Given the description of an element on the screen output the (x, y) to click on. 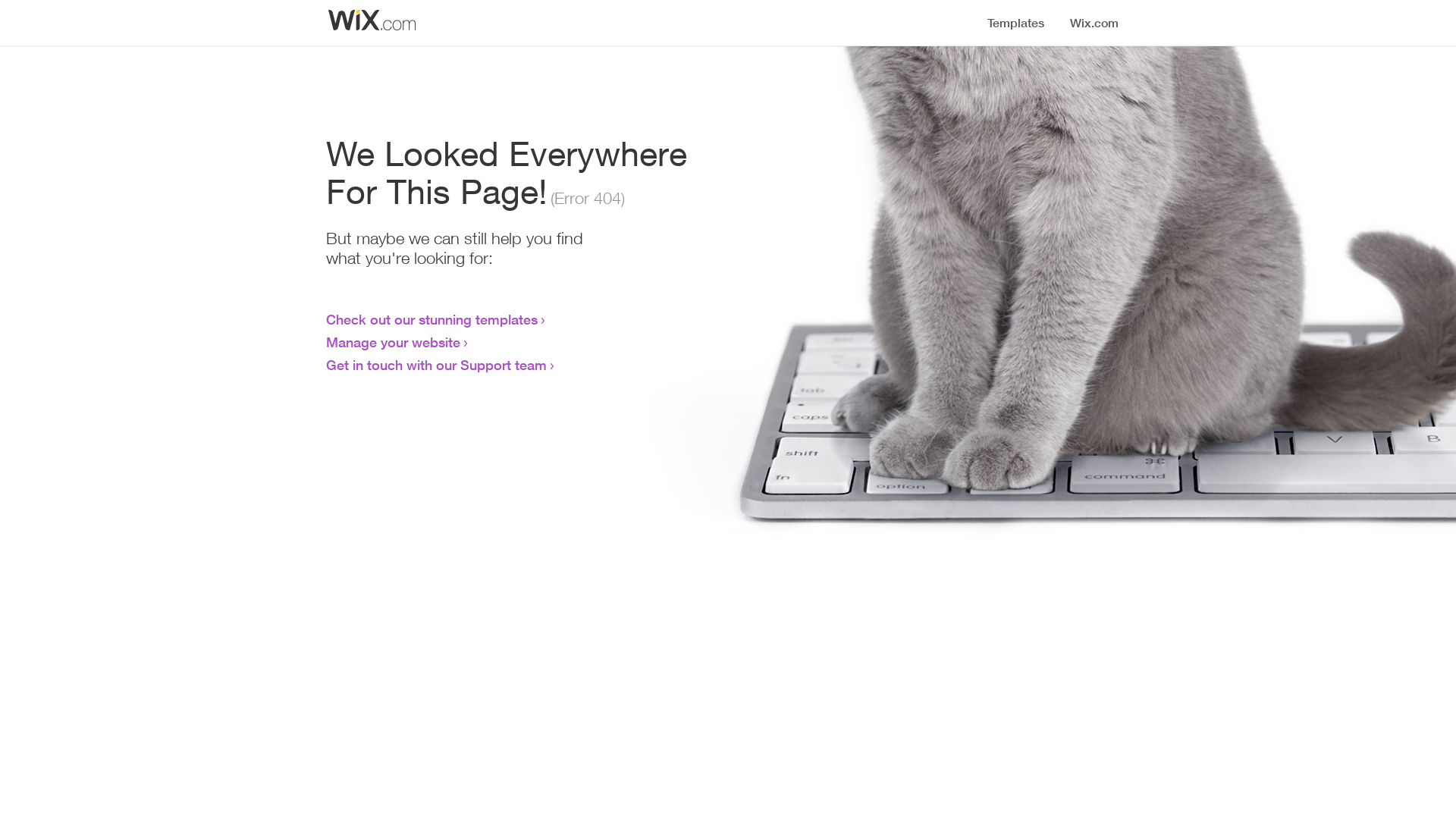
Manage your website Element type: text (393, 341)
Check out our stunning templates Element type: text (431, 318)
Get in touch with our Support team Element type: text (436, 364)
